Given the description of an element on the screen output the (x, y) to click on. 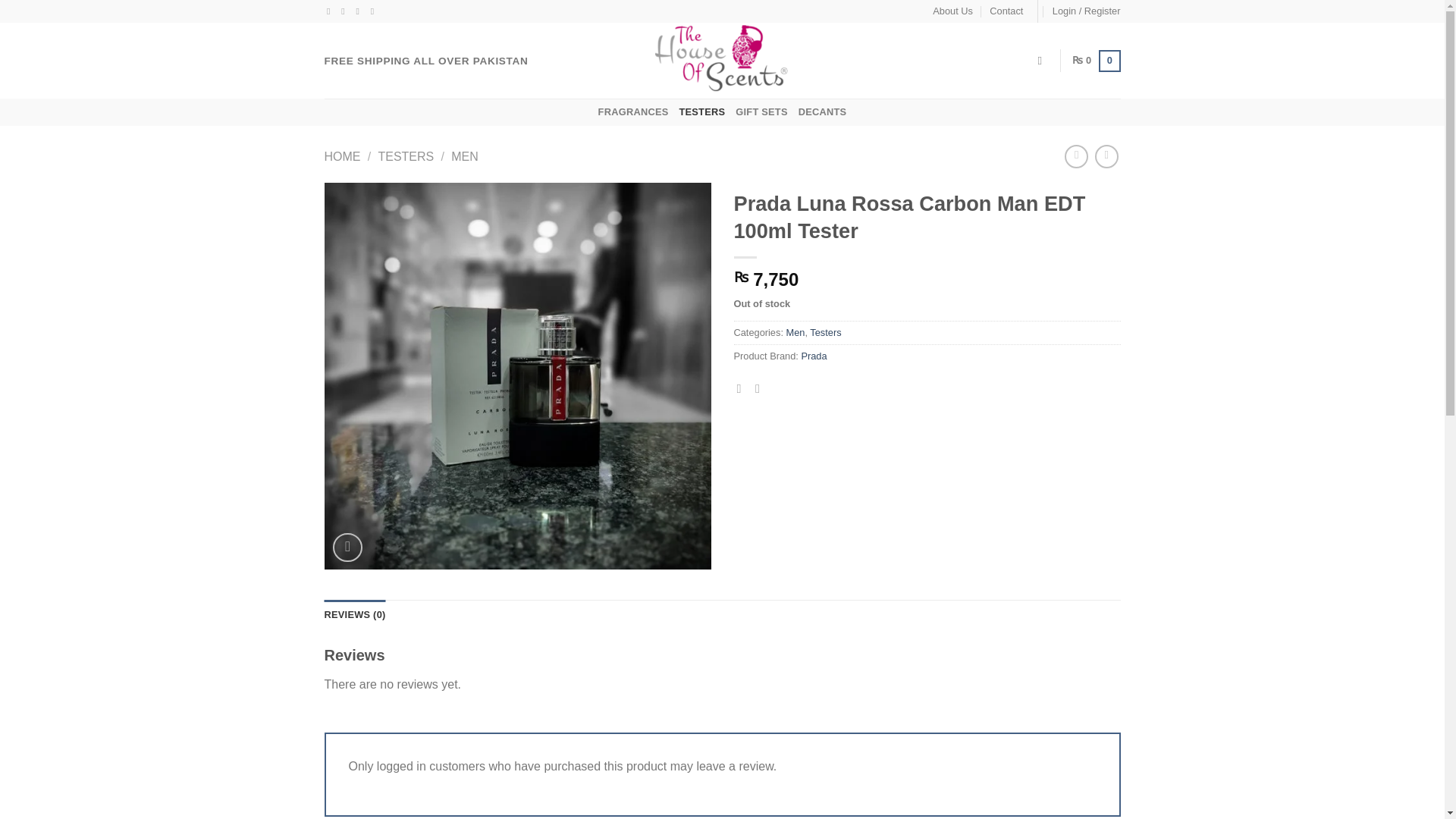
FRAGRANCES (633, 112)
Contact (1006, 11)
Cart (1096, 61)
About Us (952, 11)
HOME (342, 155)
MEN (465, 155)
TESTERS (405, 155)
Prada (813, 355)
The House Of Scents (722, 60)
Men (795, 332)
